Given the description of an element on the screen output the (x, y) to click on. 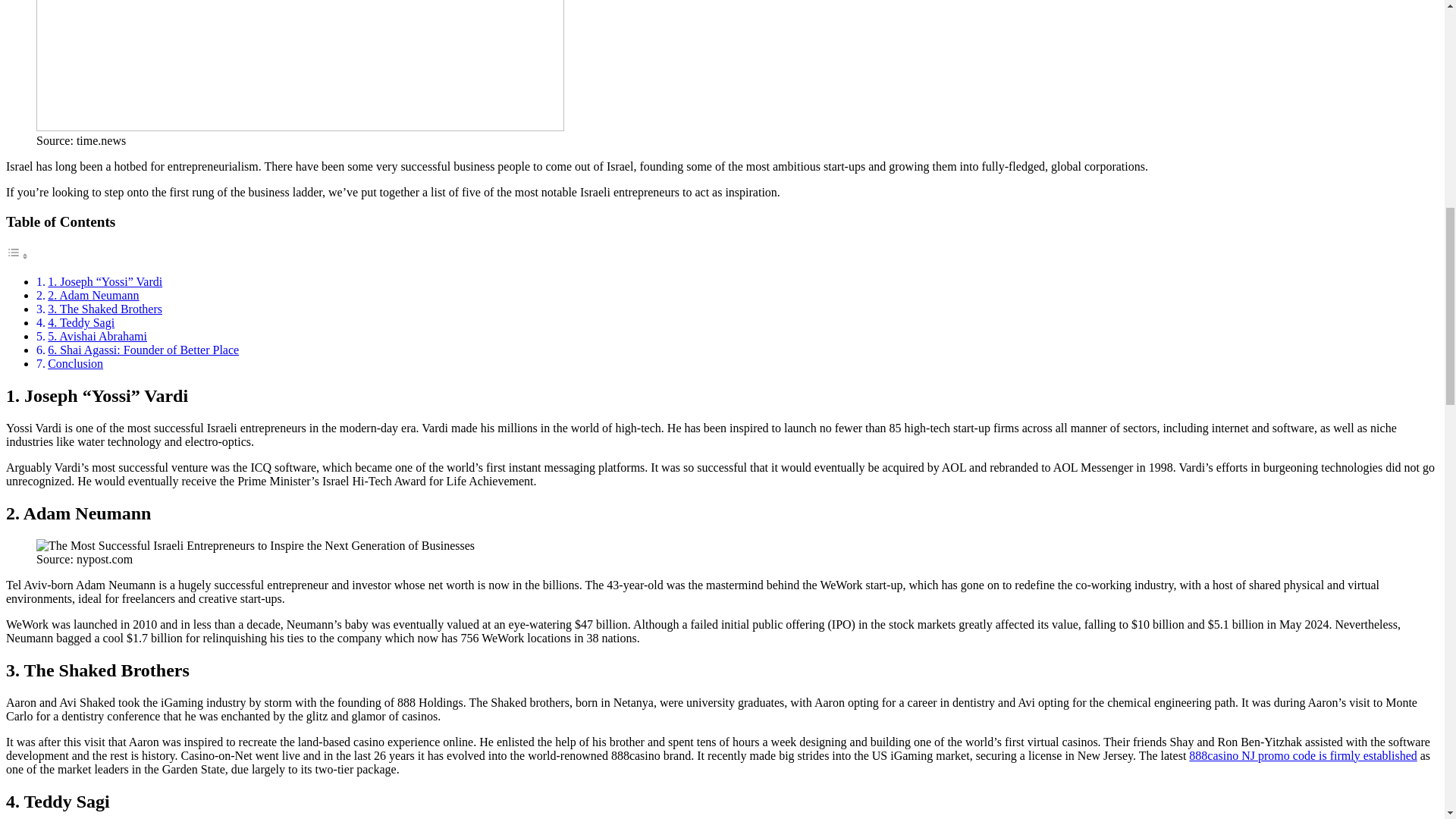
5. Avishai Abrahami (97, 336)
2. Adam Neumann (93, 295)
888casino NJ promo code is firmly established (1302, 755)
Conclusion (75, 363)
Conclusion (75, 363)
6. Shai Agassi: Founder of Better Place (143, 349)
3. The Shaked Brothers (104, 308)
6. Shai Agassi: Founder of Better Place (143, 349)
4. Teddy Sagi (81, 322)
5. Avishai Abrahami (97, 336)
